Given the description of an element on the screen output the (x, y) to click on. 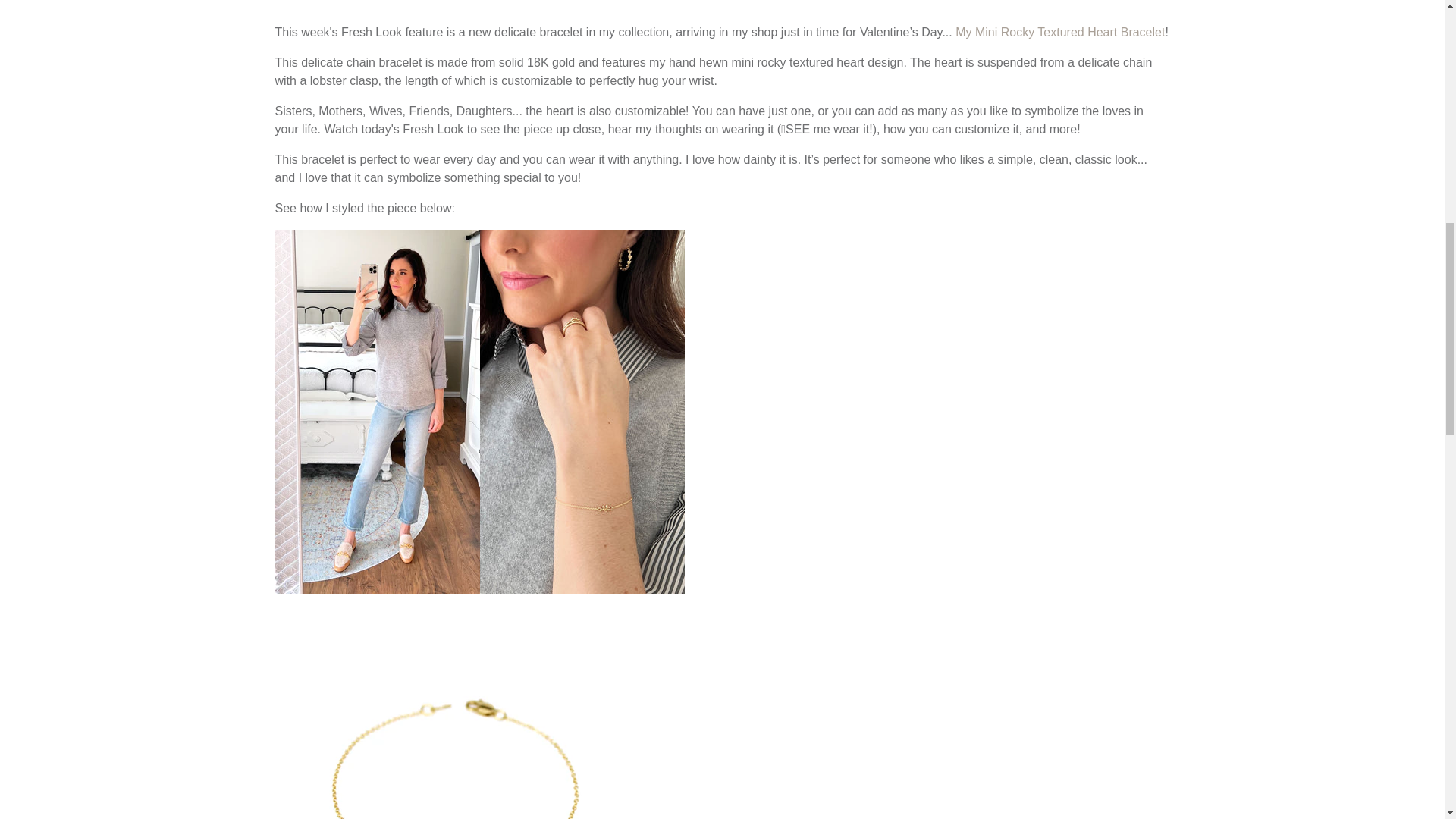
delicate chain bracelet with heart (1059, 31)
mini heart bracelet (479, 589)
